Given the description of an element on the screen output the (x, y) to click on. 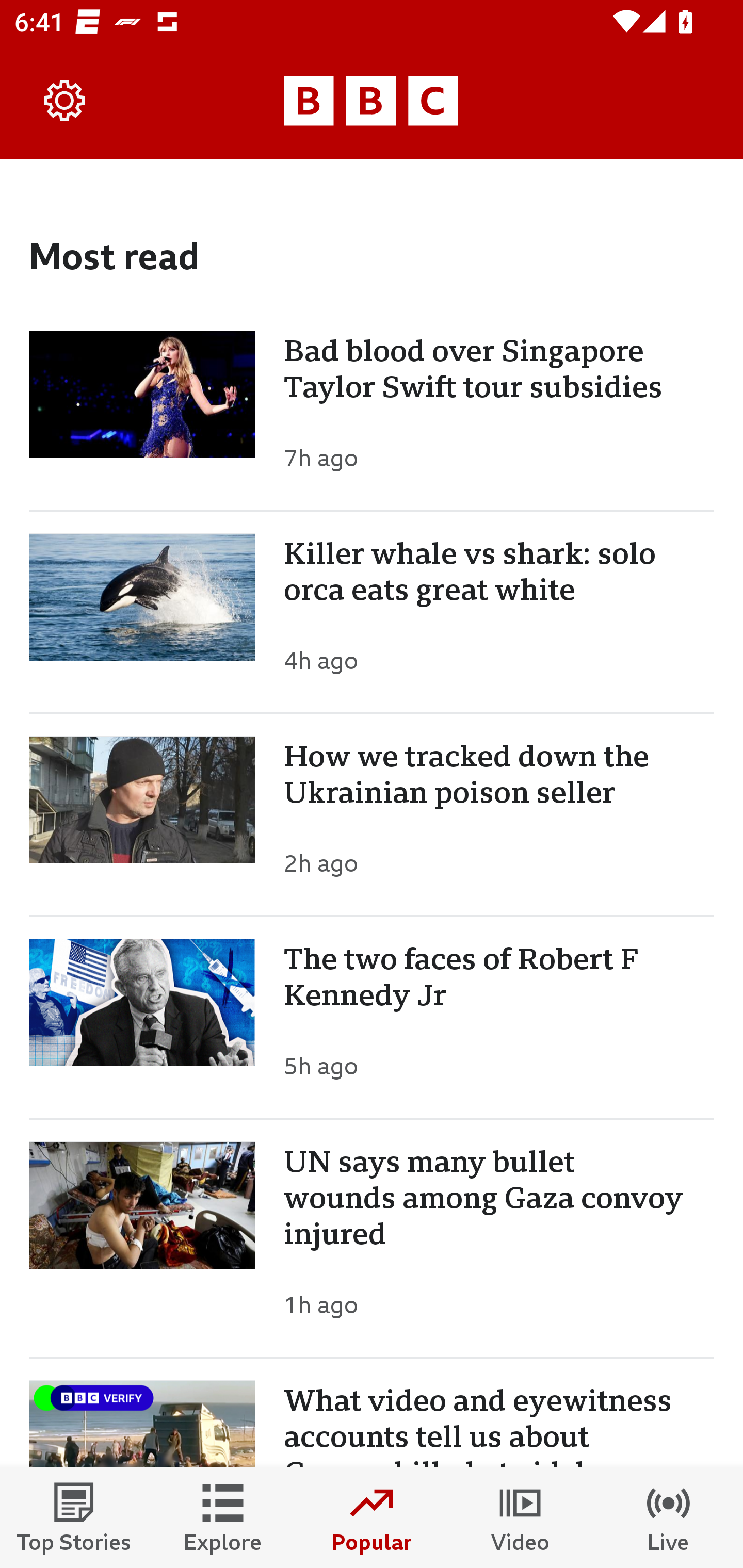
Settings (64, 100)
Top Stories (74, 1517)
Explore (222, 1517)
Video (519, 1517)
Live (668, 1517)
